Given the description of an element on the screen output the (x, y) to click on. 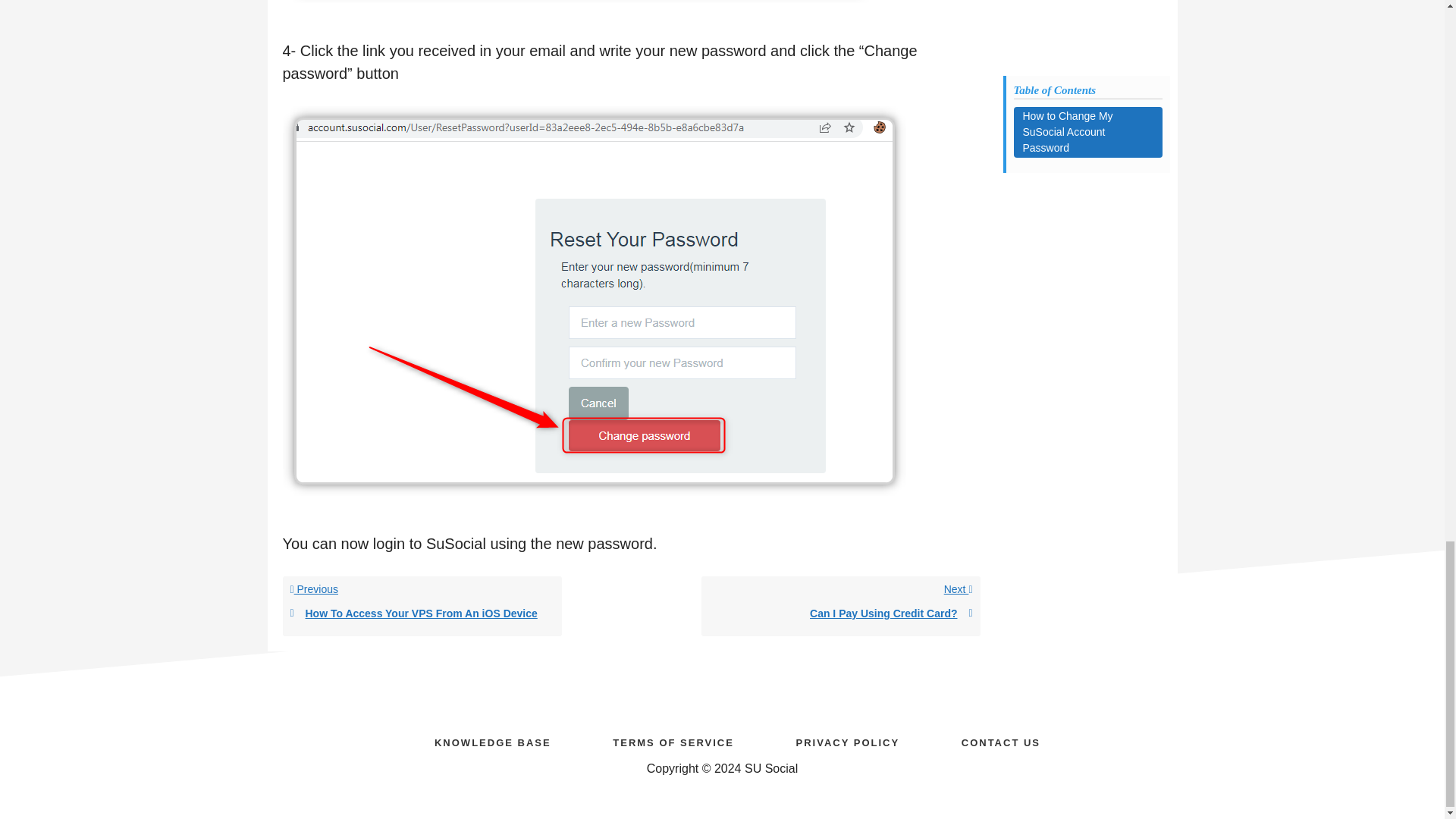
TERMS OF SERVICE (673, 740)
PRIVACY POLICY (848, 740)
CONTACT US (1000, 740)
Can I Pay Using Credit Card? (839, 613)
KNOWLEDGE BASE (839, 606)
How To Access Your VPS From An iOS Device (492, 740)
